Given the description of an element on the screen output the (x, y) to click on. 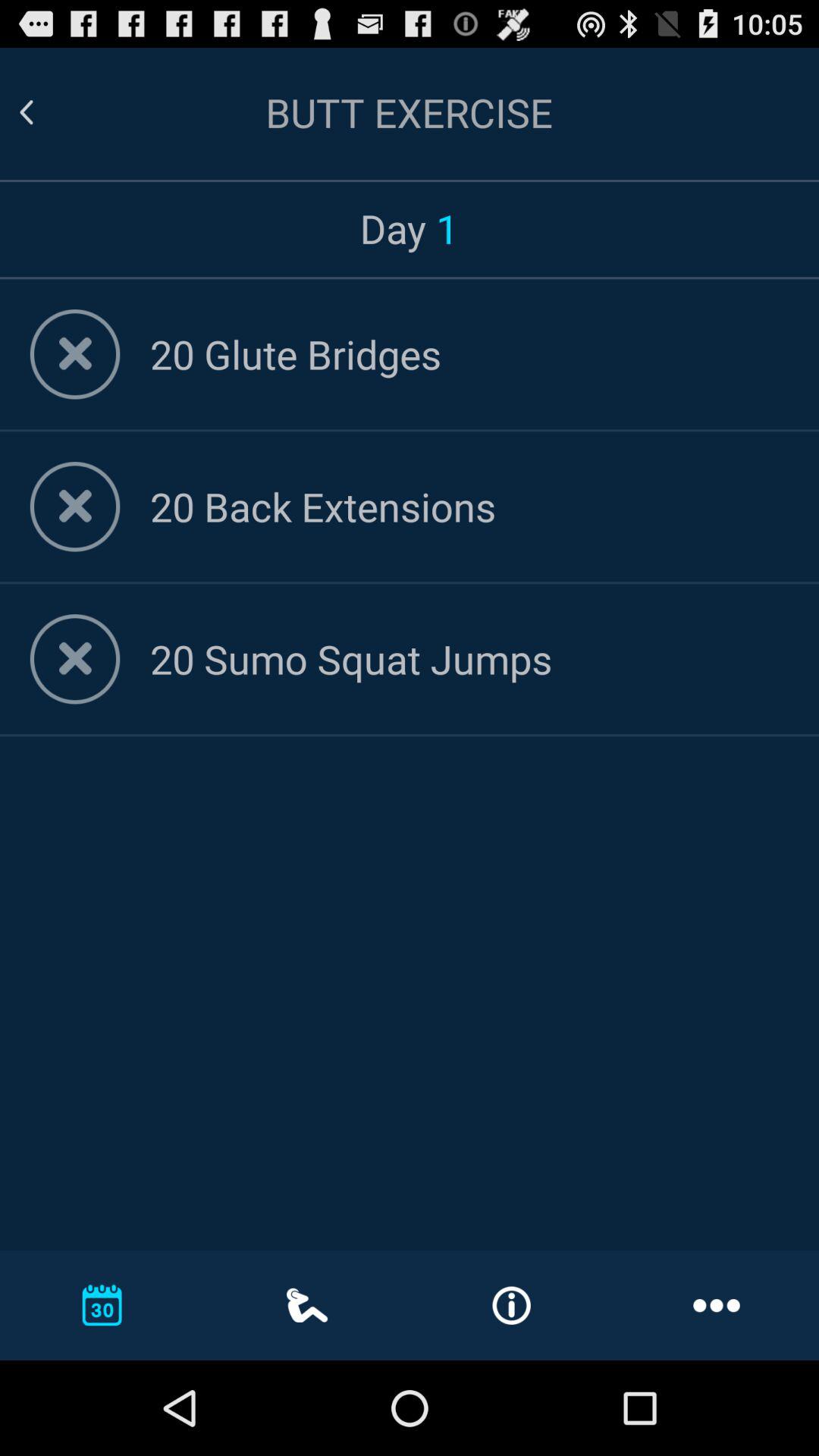
remove last exercise (75, 659)
